Given the description of an element on the screen output the (x, y) to click on. 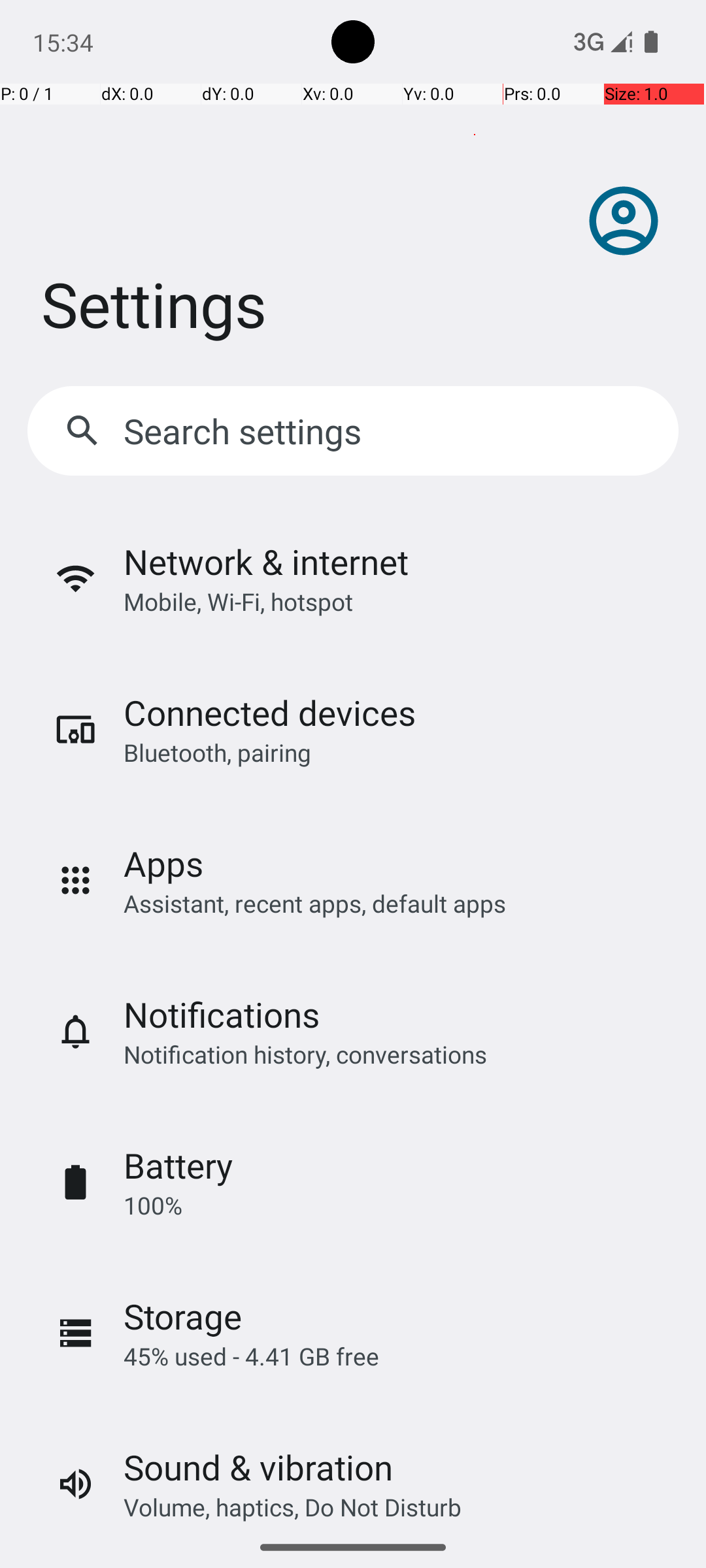
Profile picture, double tap to open Google Account Element type: android.widget.ImageView (623, 220)
Search settings Element type: android.widget.TextView (245, 430)
Network & internet Element type: android.widget.TextView (265, 561)
Mobile, Wi‑Fi, hotspot Element type: android.widget.TextView (238, 601)
Connected devices Element type: android.widget.TextView (269, 712)
Bluetooth, pairing Element type: android.widget.TextView (217, 751)
Apps Element type: android.widget.TextView (163, 863)
Assistant, recent apps, default apps Element type: android.widget.TextView (314, 902)
Notifications Element type: android.widget.TextView (221, 1014)
Notification history, conversations Element type: android.widget.TextView (305, 1053)
Battery Element type: android.widget.TextView (178, 1165)
100% Element type: android.widget.TextView (152, 1204)
Storage Element type: android.widget.TextView (182, 1315)
45% used - 4.41 GB free Element type: android.widget.TextView (251, 1355)
Sound & vibration Element type: android.widget.TextView (257, 1466)
Volume, haptics, Do Not Disturb Element type: android.widget.TextView (292, 1506)
